Given the description of an element on the screen output the (x, y) to click on. 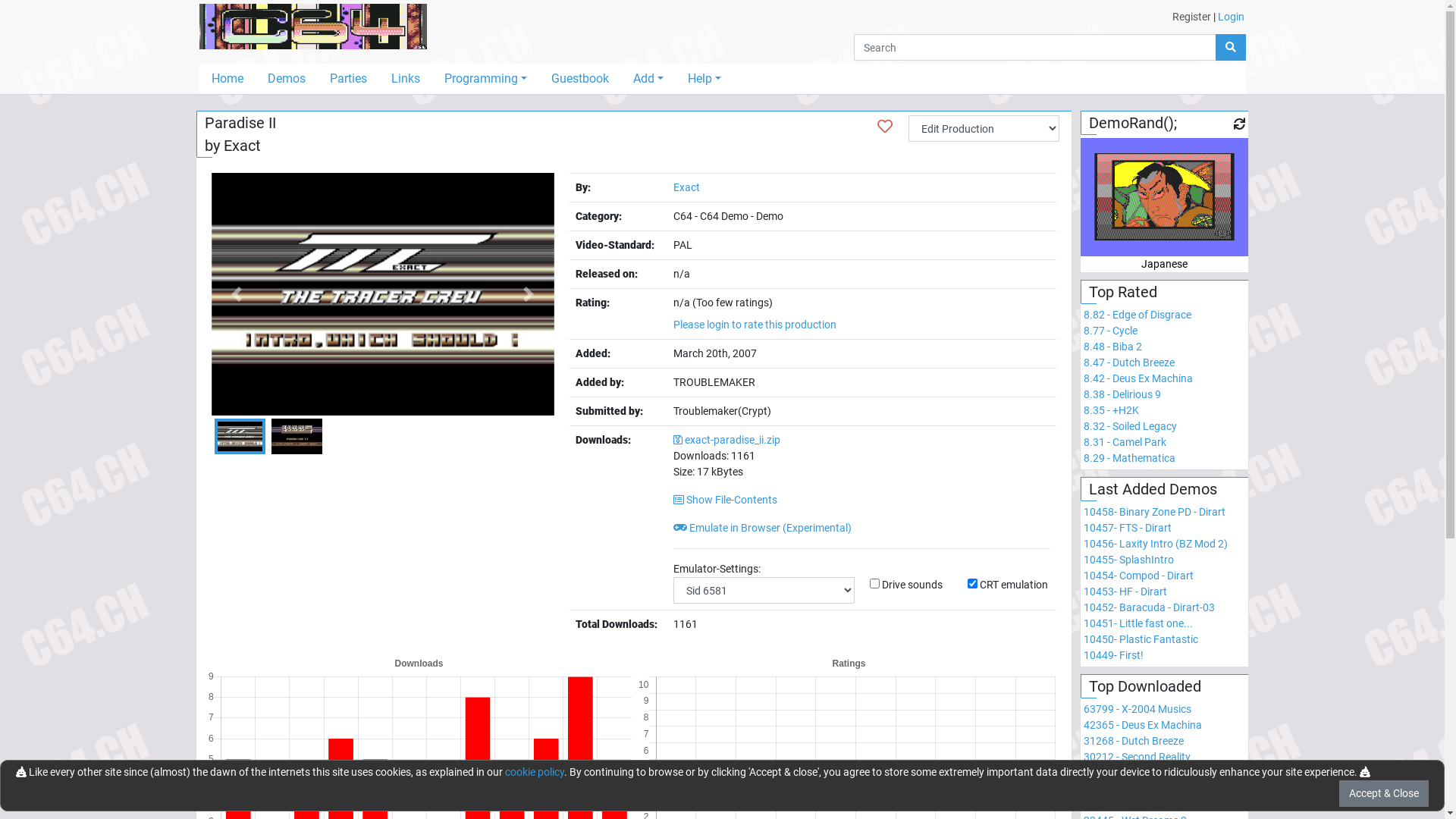
Help Element type: text (704, 78)
cookie policy Element type: text (534, 771)
26205 - Biba 2 Element type: text (1117, 788)
23286 - +H2K Element type: text (1115, 804)
Add Element type: text (648, 78)
Register Element type: text (1191, 16)
8.82 - Edge of Disgrace Element type: text (1137, 314)
63799 - X-2004 Musics Element type: text (1137, 708)
Top Downloaded Element type: text (1144, 686)
8.32 - Soiled Legacy Element type: text (1129, 426)
Demos Element type: text (285, 78)
Last Added Demos Element type: text (1152, 489)
Previous Element type: text (236, 293)
10452- Baracuda - Dirart-03 Element type: text (1148, 607)
Login Element type: text (1230, 16)
Links Element type: text (405, 78)
10450- Plastic Fantastic Element type: text (1140, 639)
8.77 - Cycle Element type: text (1110, 330)
Parties Element type: text (347, 78)
10456- Laxity Intro (BZ Mod 2) Element type: text (1155, 543)
10454- Compod - Dirart Element type: text (1138, 575)
10457- FTS - Dirart Element type: text (1127, 527)
10449- First! Element type: text (1113, 655)
8.35 - +H2K Element type: text (1111, 410)
31268 - Dutch Breeze Element type: text (1133, 740)
Add to favorites Element type: hover (884, 126)
Japanese Element type: text (1164, 231)
42365 - Deus Ex Machina Element type: text (1142, 724)
Show File-Contents Element type: text (725, 499)
8.42 - Deus Ex Machina Element type: text (1137, 378)
10451- Little fast one... Element type: text (1137, 623)
Emulate in Browser (Experimental) Element type: text (762, 527)
Accept & Close Element type: text (1383, 793)
Next Element type: text (528, 293)
10453- HF - Dirart Element type: text (1125, 591)
10455- SplashIntro Element type: text (1128, 559)
Programming Element type: text (485, 78)
8.38 - Delirious 9 Element type: text (1122, 394)
Exact Element type: text (241, 145)
Top Rated Element type: text (1122, 291)
26815 - Cycle Element type: text (1114, 772)
8.31 - Camel Park Element type: text (1124, 442)
Exact Element type: text (686, 187)
10458- Binary Zone PD - Dirart Element type: text (1154, 511)
8.29 - Mathematica Element type: text (1129, 457)
30212 - Second Reality Element type: text (1136, 756)
Please login to rate this production Element type: text (754, 324)
8.47 - Dutch Breeze Element type: text (1128, 362)
8.48 - Biba 2 Element type: text (1112, 346)
Home Element type: text (226, 78)
Guestbook Element type: text (580, 78)
exact-paradise_ii.zip Element type: text (726, 439)
